Given the description of an element on the screen output the (x, y) to click on. 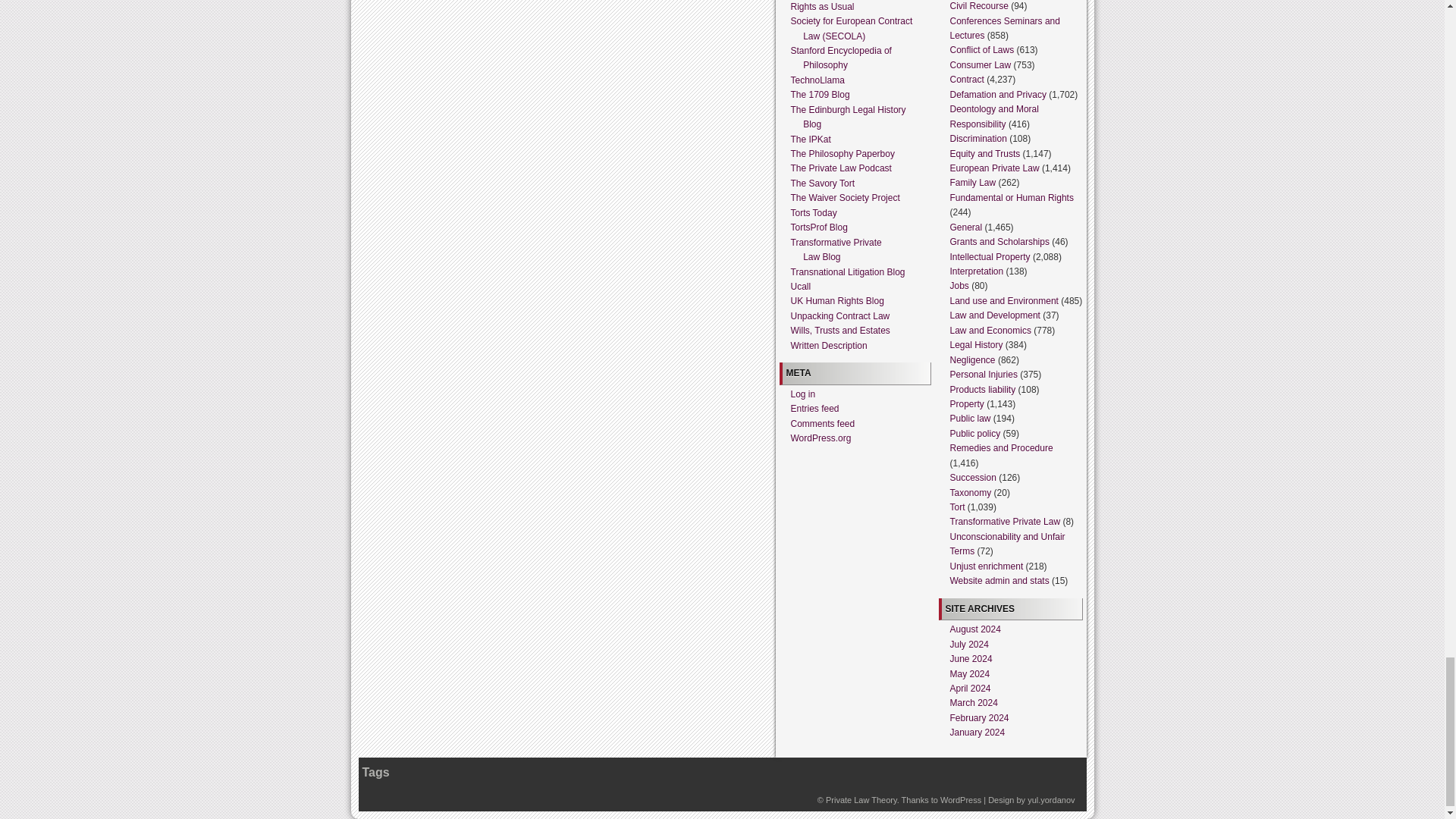
Obligations, Property, Legal Theory (860, 799)
